Given the description of an element on the screen output the (x, y) to click on. 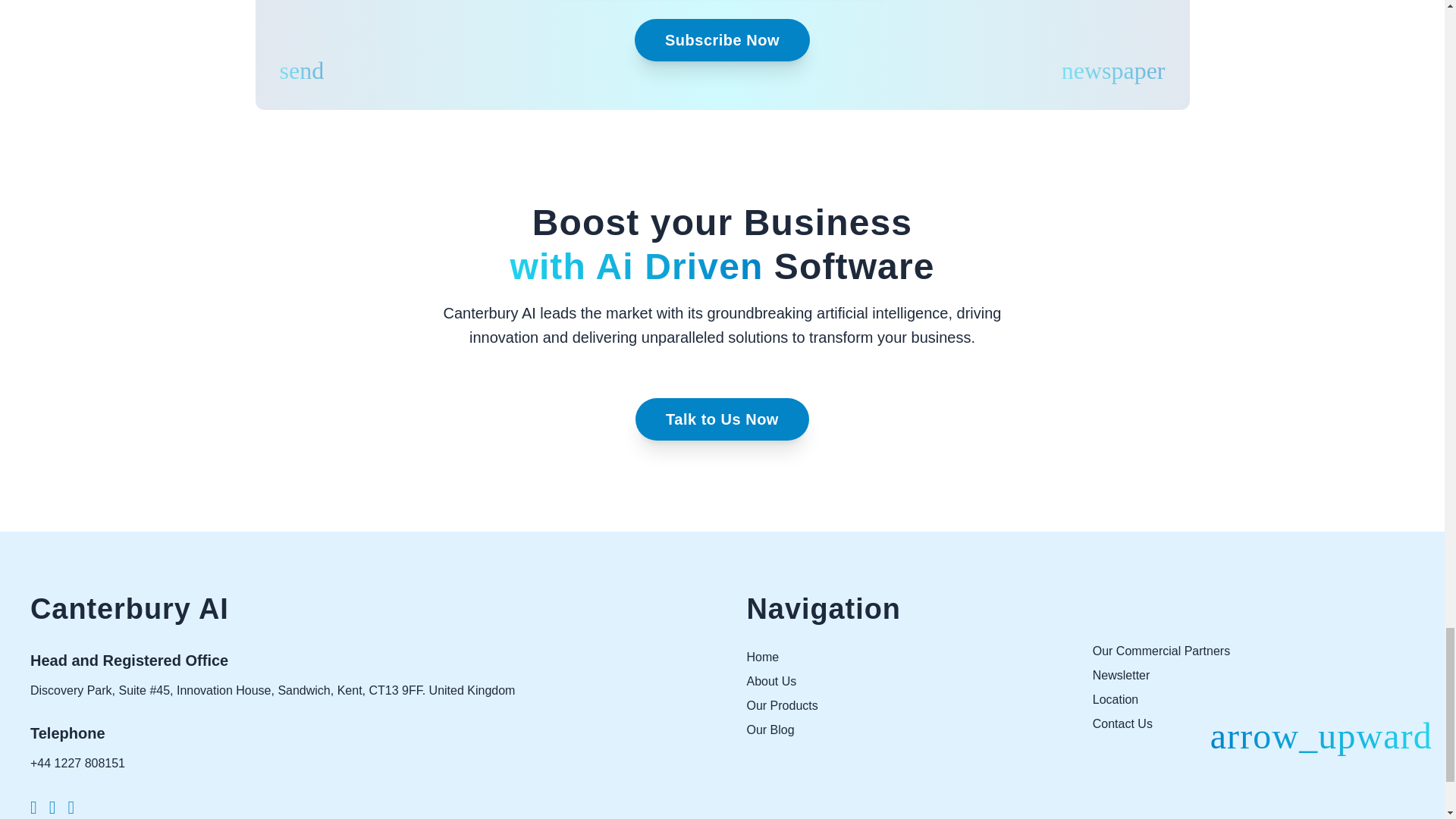
Talk to Us Now (721, 419)
